Given the description of an element on the screen output the (x, y) to click on. 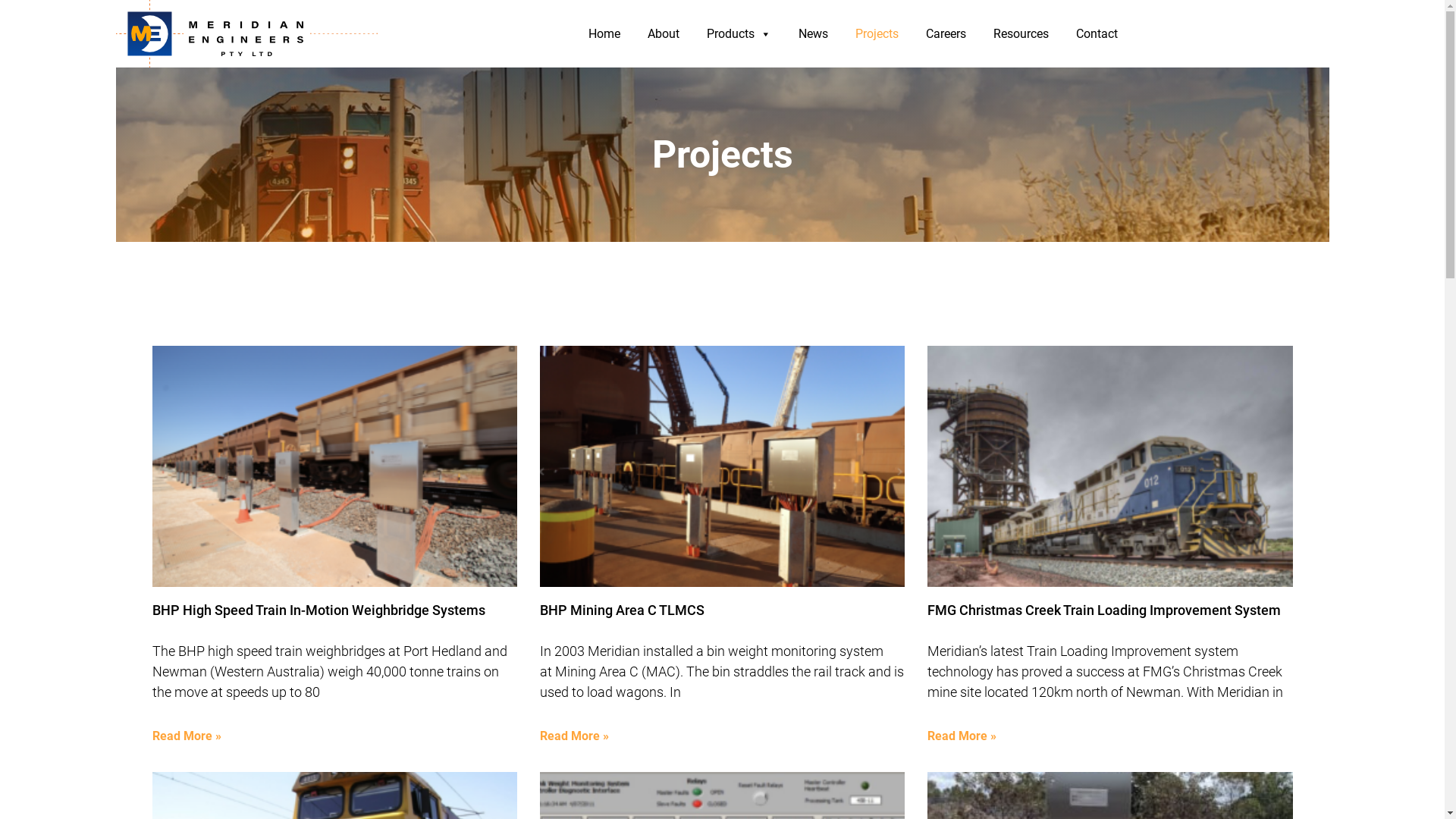
About Element type: text (663, 33)
News Element type: text (812, 33)
BHP High Speed Train In-Motion Weighbridge Systems Element type: text (317, 610)
Contact Element type: text (1096, 33)
FMG Christmas Creek Train Loading Improvement System Element type: text (1103, 610)
Products Element type: text (738, 33)
Resources Element type: text (1020, 33)
BHP Mining Area C TLMCS Element type: text (621, 610)
Home Element type: text (603, 33)
Careers Element type: text (945, 33)
Projects Element type: text (876, 33)
